Given the description of an element on the screen output the (x, y) to click on. 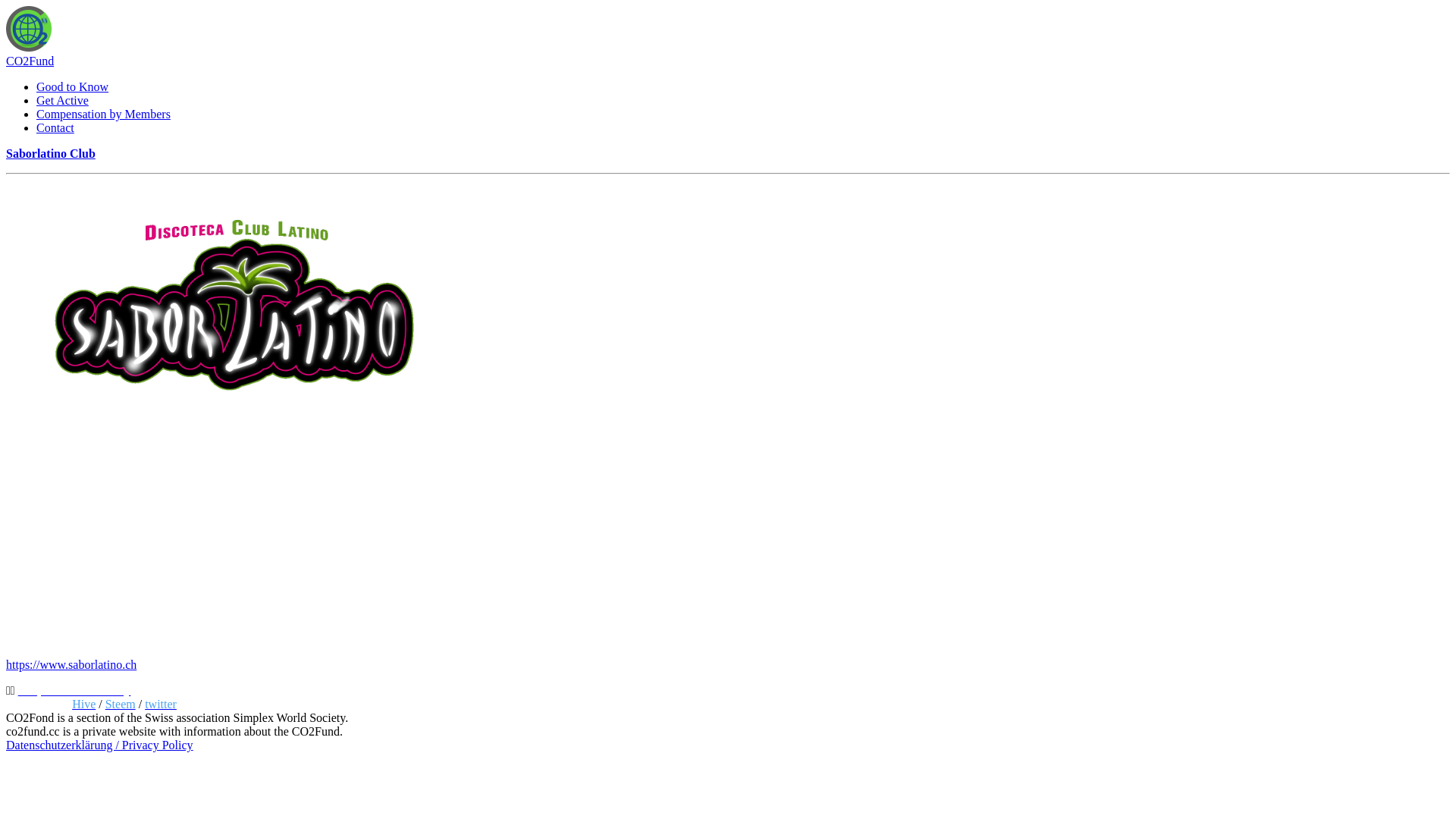
CO2Fund Element type: text (29, 60)
twitter Element type: text (160, 703)
Hive Element type: text (83, 703)
Compensation by Members Element type: text (103, 113)
Good to Know Element type: text (72, 86)
https://www.saborlatino.ch Element type: text (71, 664)
Get Active Element type: text (62, 100)
Saborlatino Club Element type: text (50, 153)
Steem Element type: text (120, 703)
Contact Element type: text (55, 127)
Simplex World Society Element type: text (74, 690)
